Given the description of an element on the screen output the (x, y) to click on. 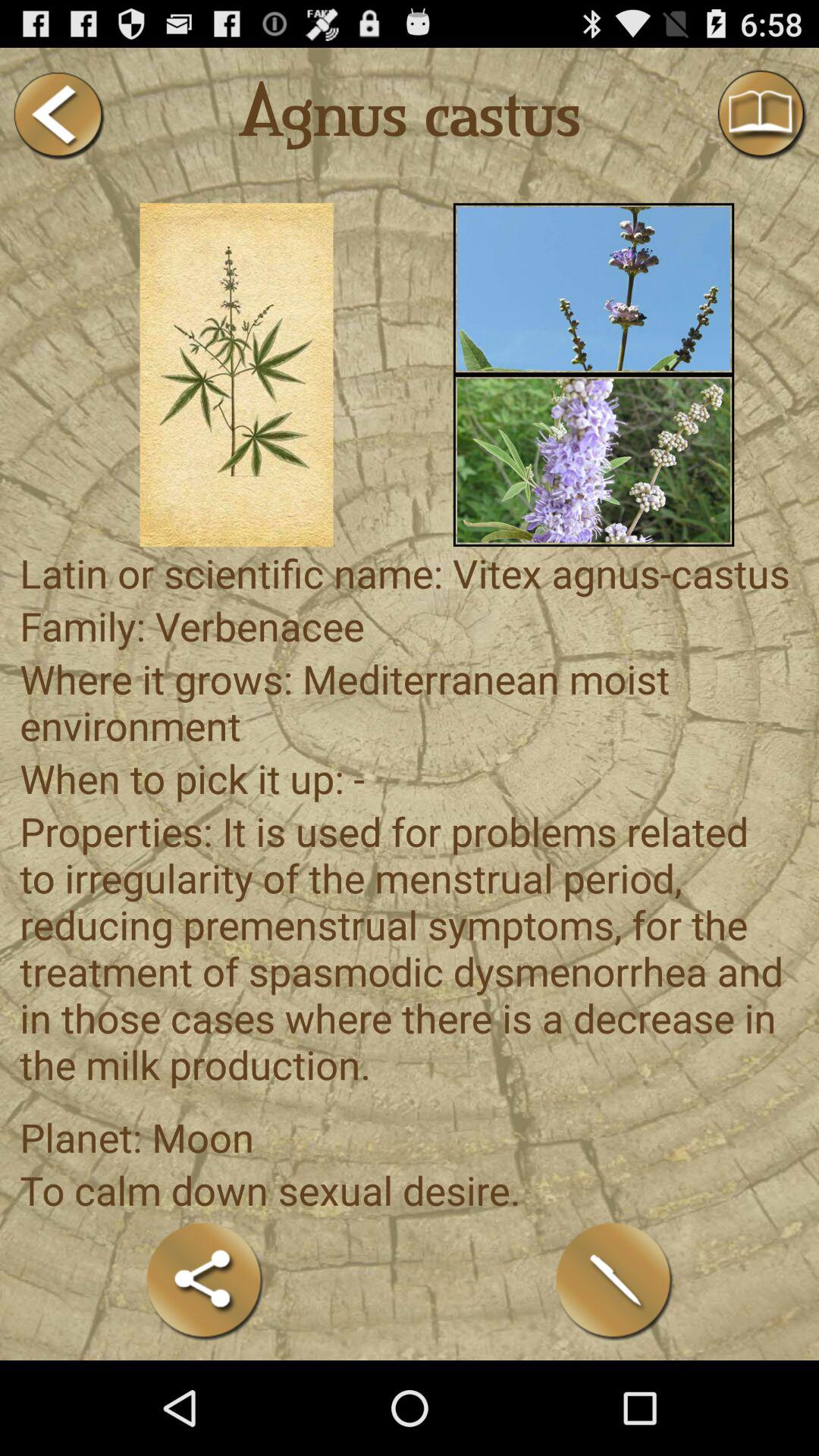
go to share menu (204, 1280)
